Given the description of an element on the screen output the (x, y) to click on. 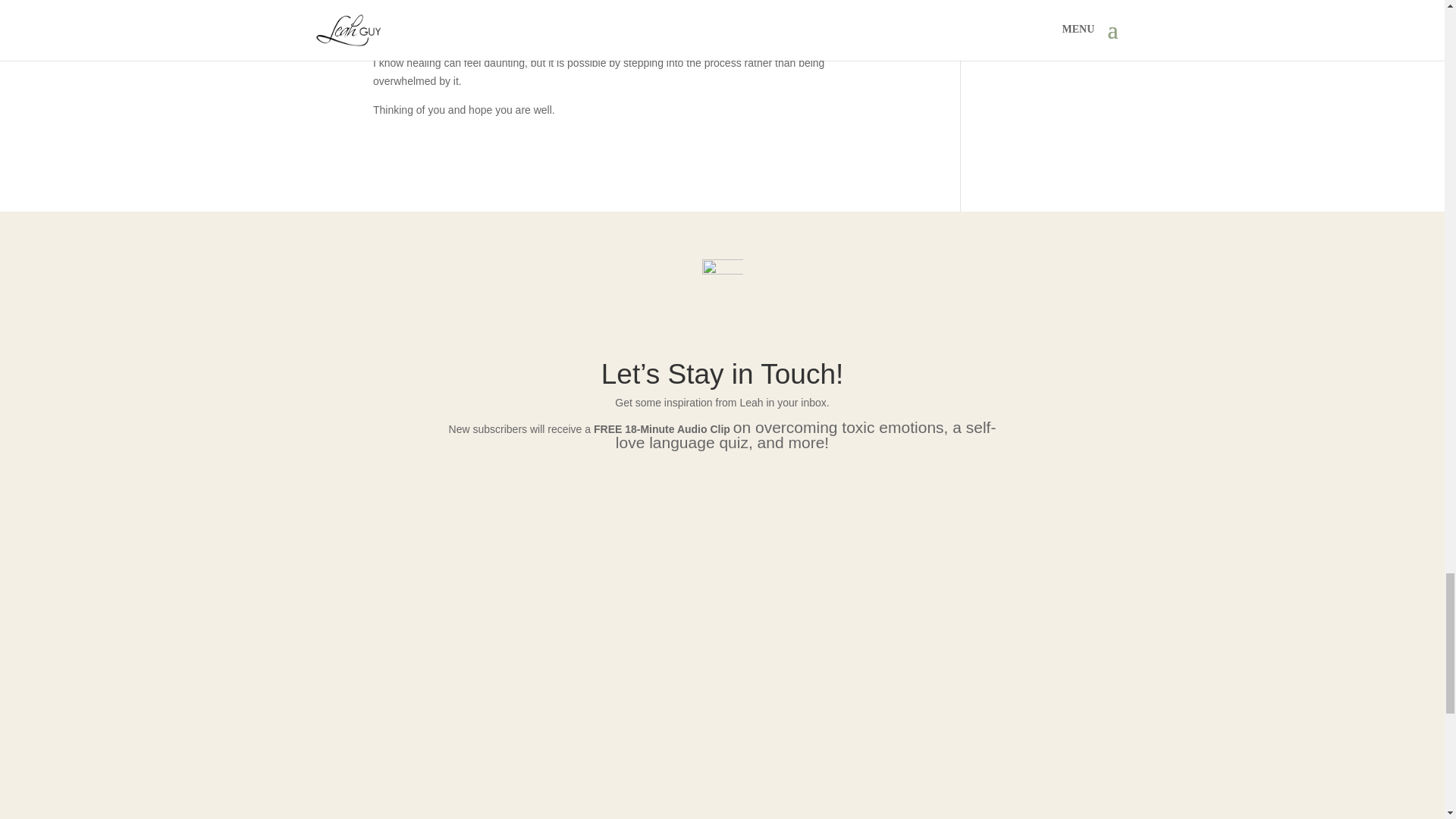
The Modern Sage Podcast (578, 44)
Overcoming Toxic Emotions, (753, 26)
